Given the description of an element on the screen output the (x, y) to click on. 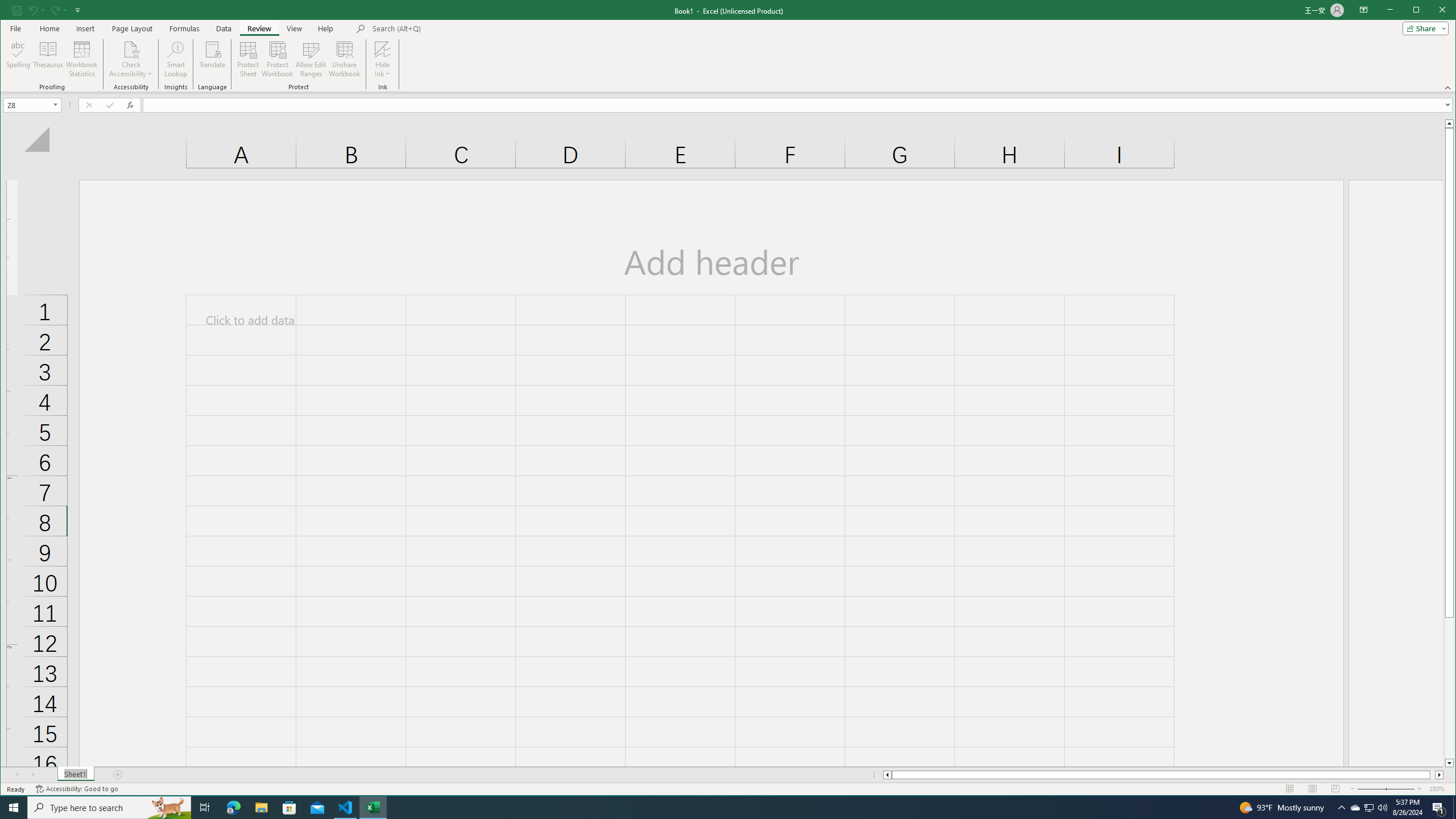
Excel - 1 running window (373, 807)
Workbook Statistics (82, 59)
Running applications (717, 807)
Spelling... (18, 59)
